Given the description of an element on the screen output the (x, y) to click on. 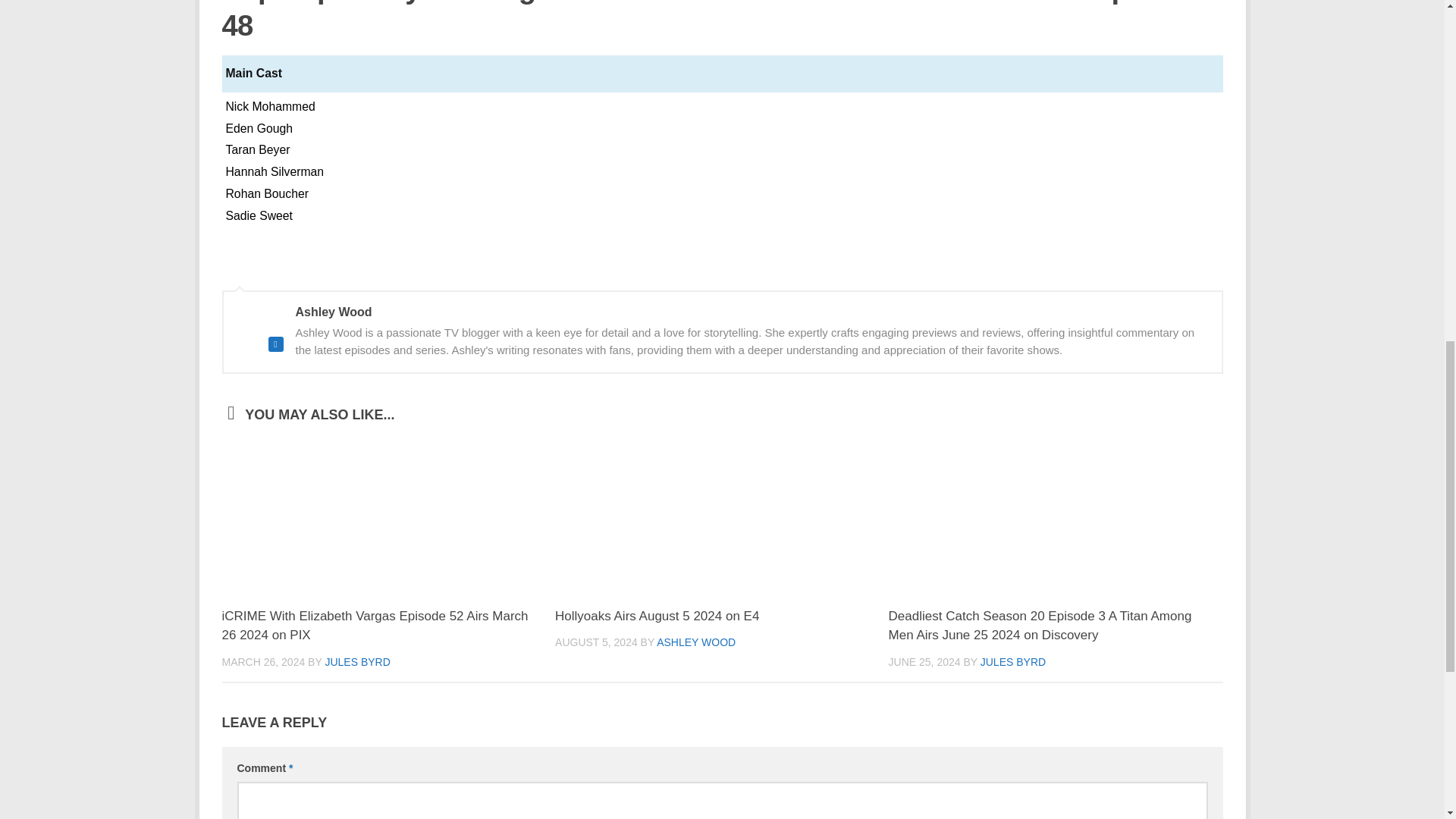
Posts by Jules Byrd (357, 662)
Posts by Ashley Wood (695, 642)
Posts by Jules Byrd (1012, 662)
JULES BYRD (357, 662)
Hollyoaks Airs August 5 2024 on E4 (656, 616)
JULES BYRD (1012, 662)
ASHLEY WOOD (695, 642)
